Given the description of an element on the screen output the (x, y) to click on. 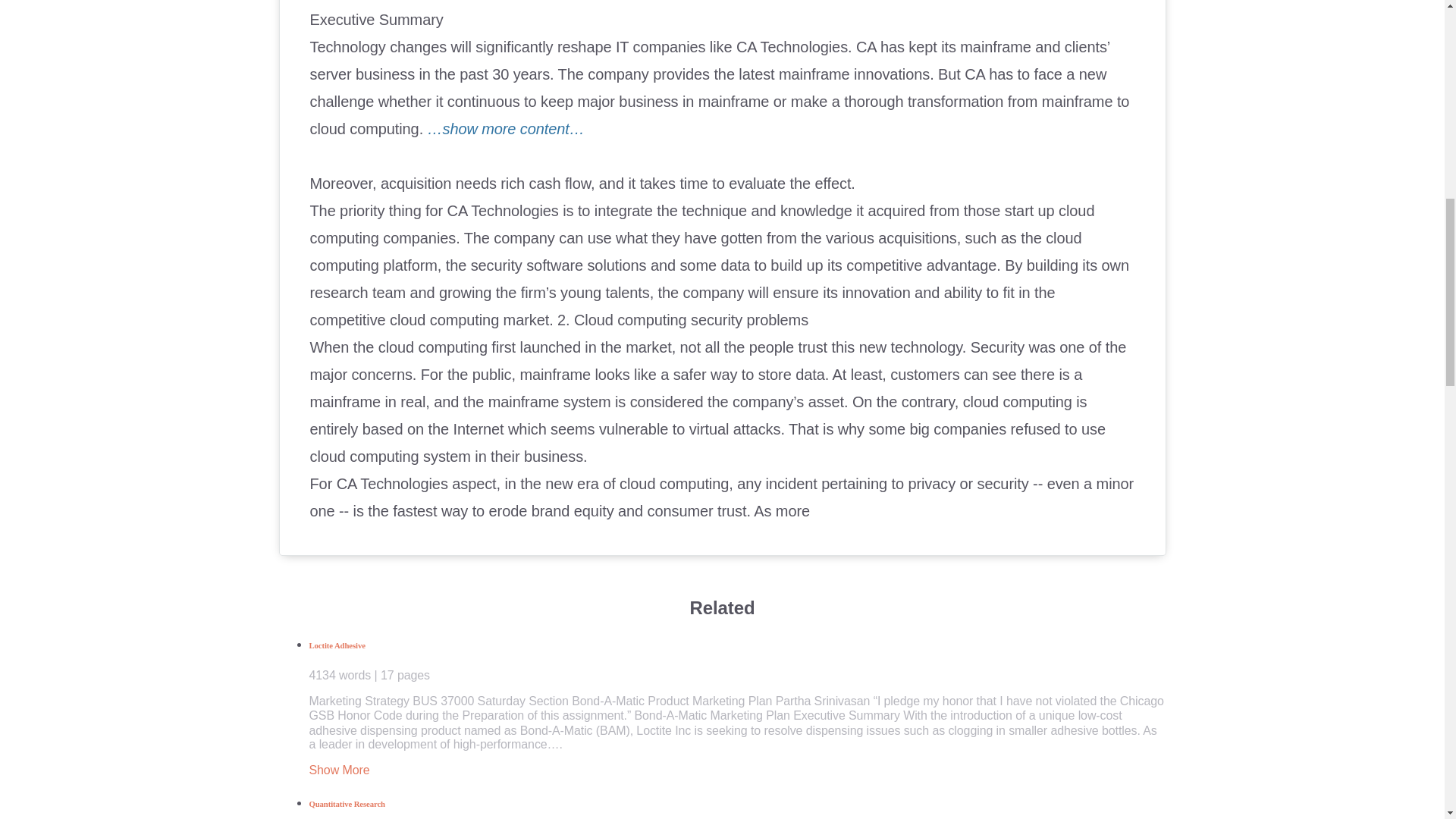
Show More (338, 769)
Quantitative Research (737, 809)
Loctite Adhesive (737, 660)
